Given the description of an element on the screen output the (x, y) to click on. 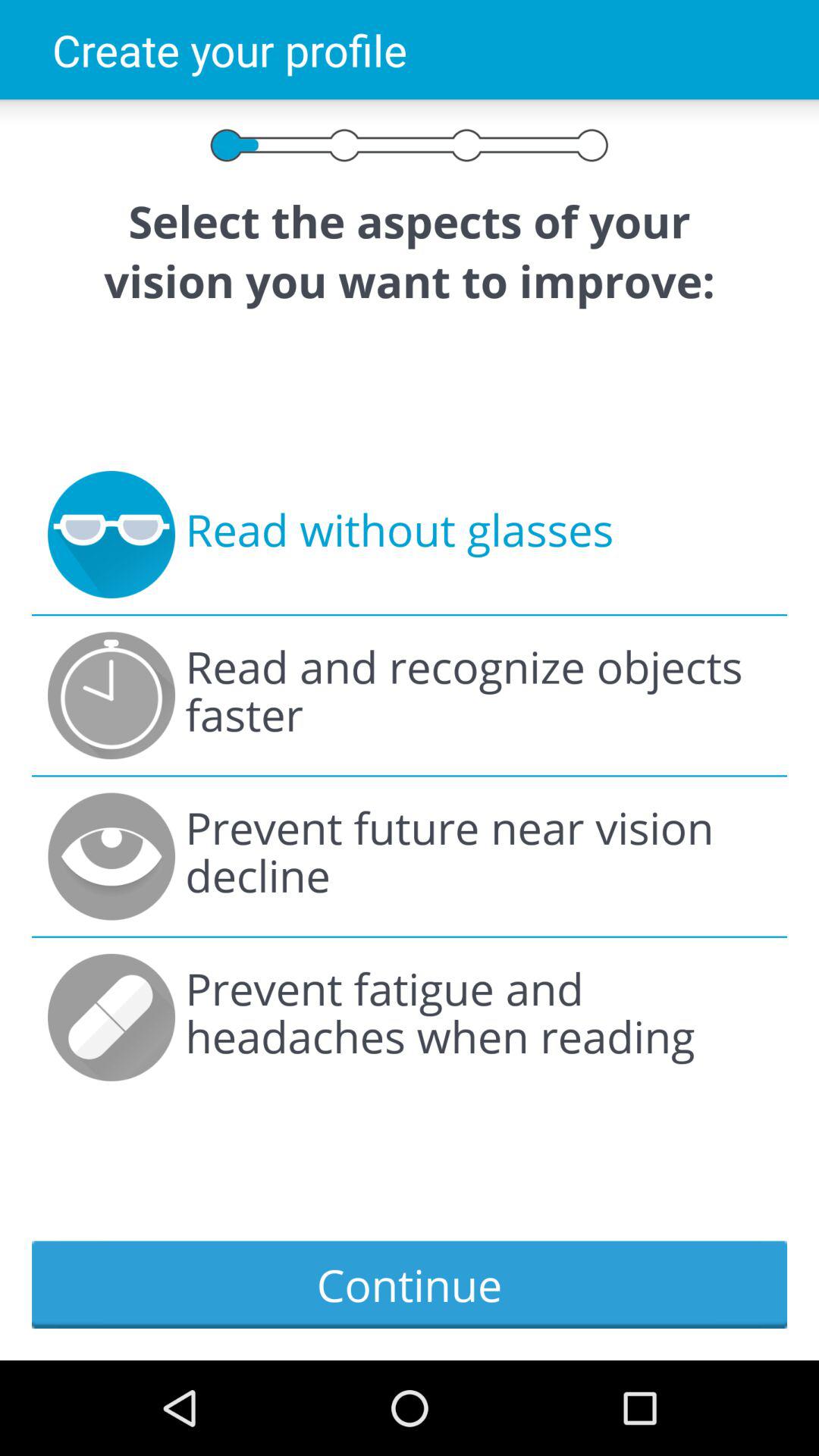
choose continue item (409, 1284)
